Given the description of an element on the screen output the (x, y) to click on. 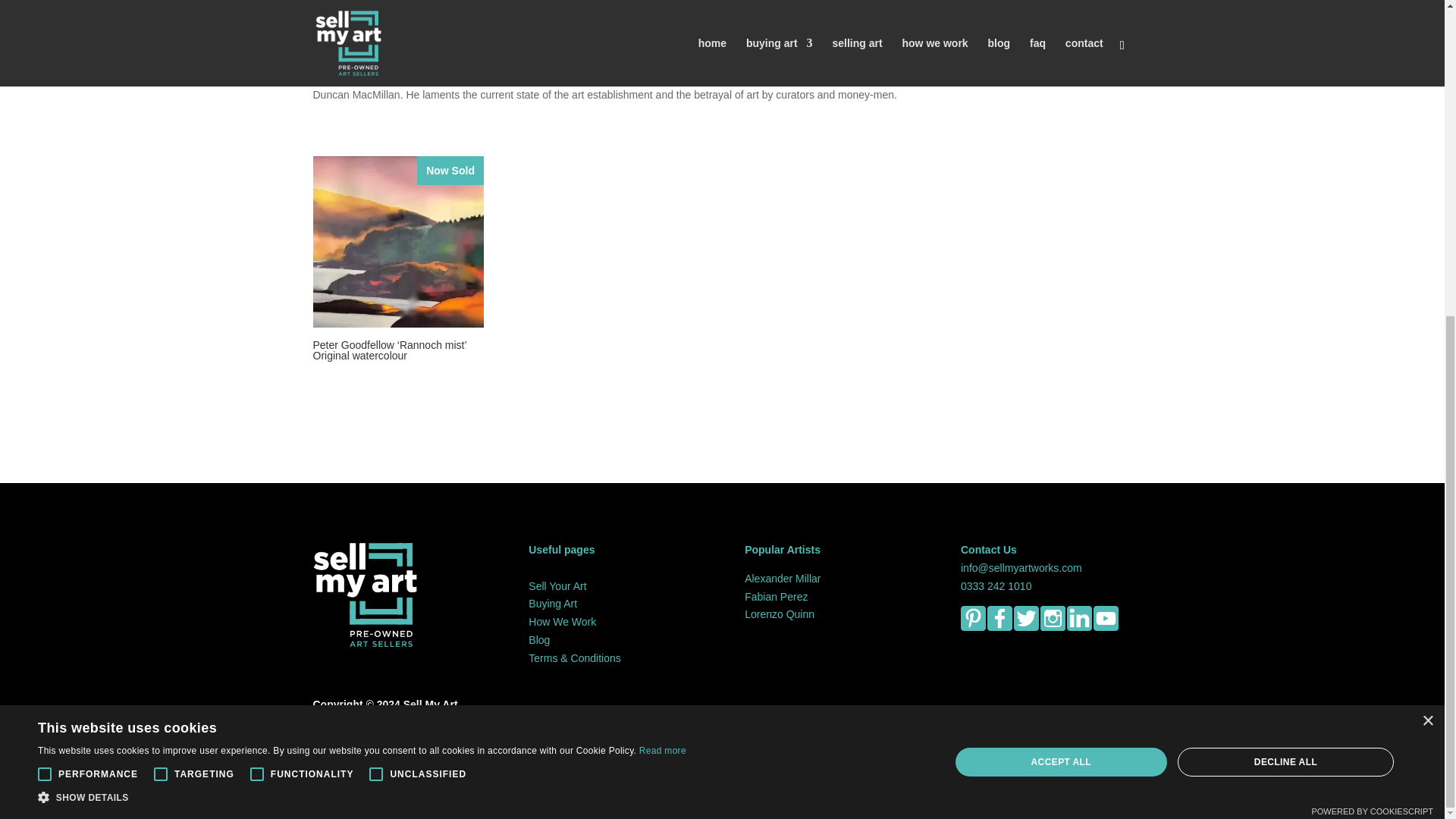
Consent Management Platform (1371, 303)
Buying Art (552, 603)
Fabian Perez (776, 596)
How We Work (561, 621)
Alexander Millar (782, 578)
Sell Your Art (557, 585)
Blog (539, 639)
Lorenzo Quinn (778, 613)
